Given the description of an element on the screen output the (x, y) to click on. 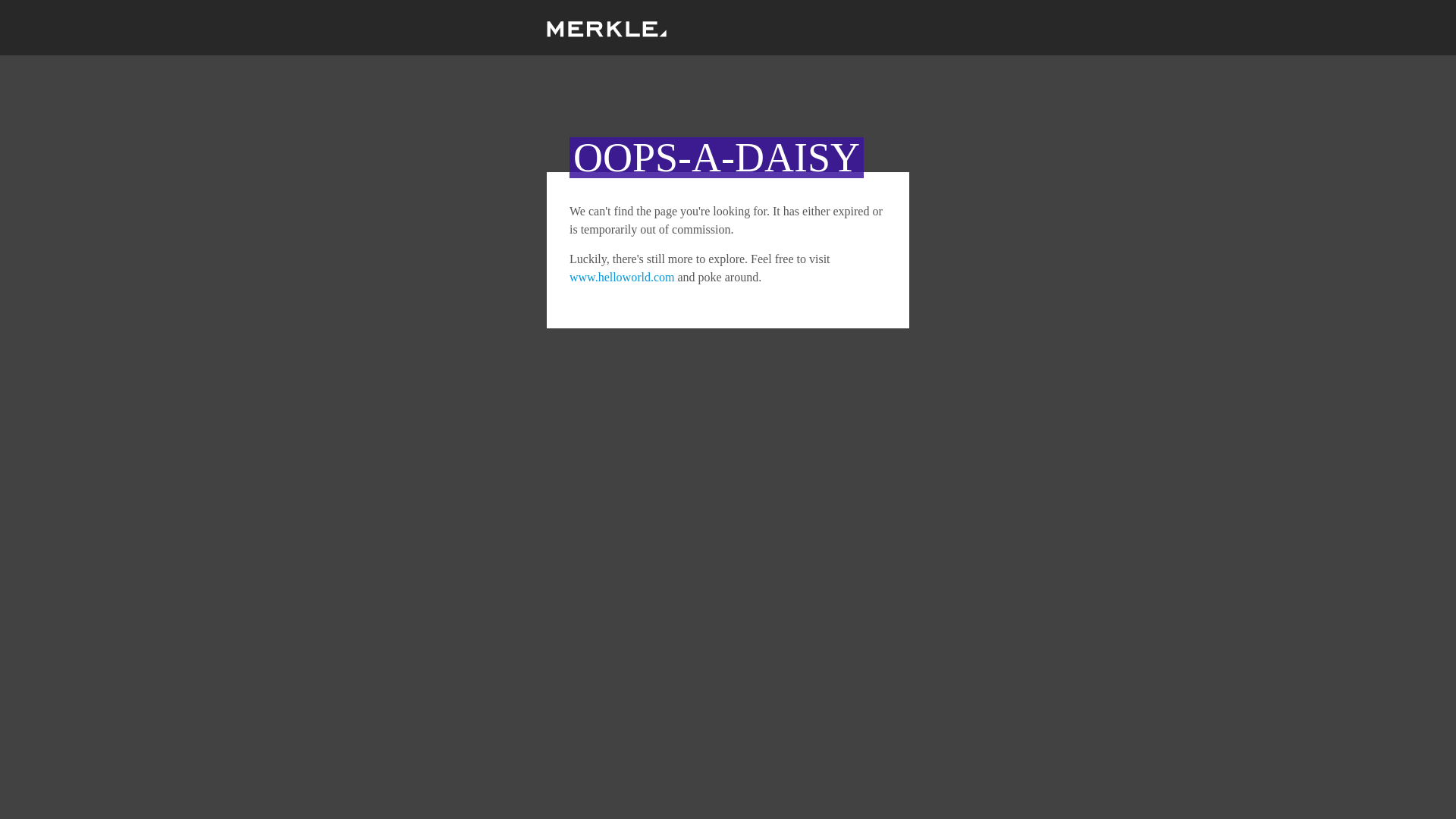
www.helloworld.com Element type: text (621, 276)
